Given the description of an element on the screen output the (x, y) to click on. 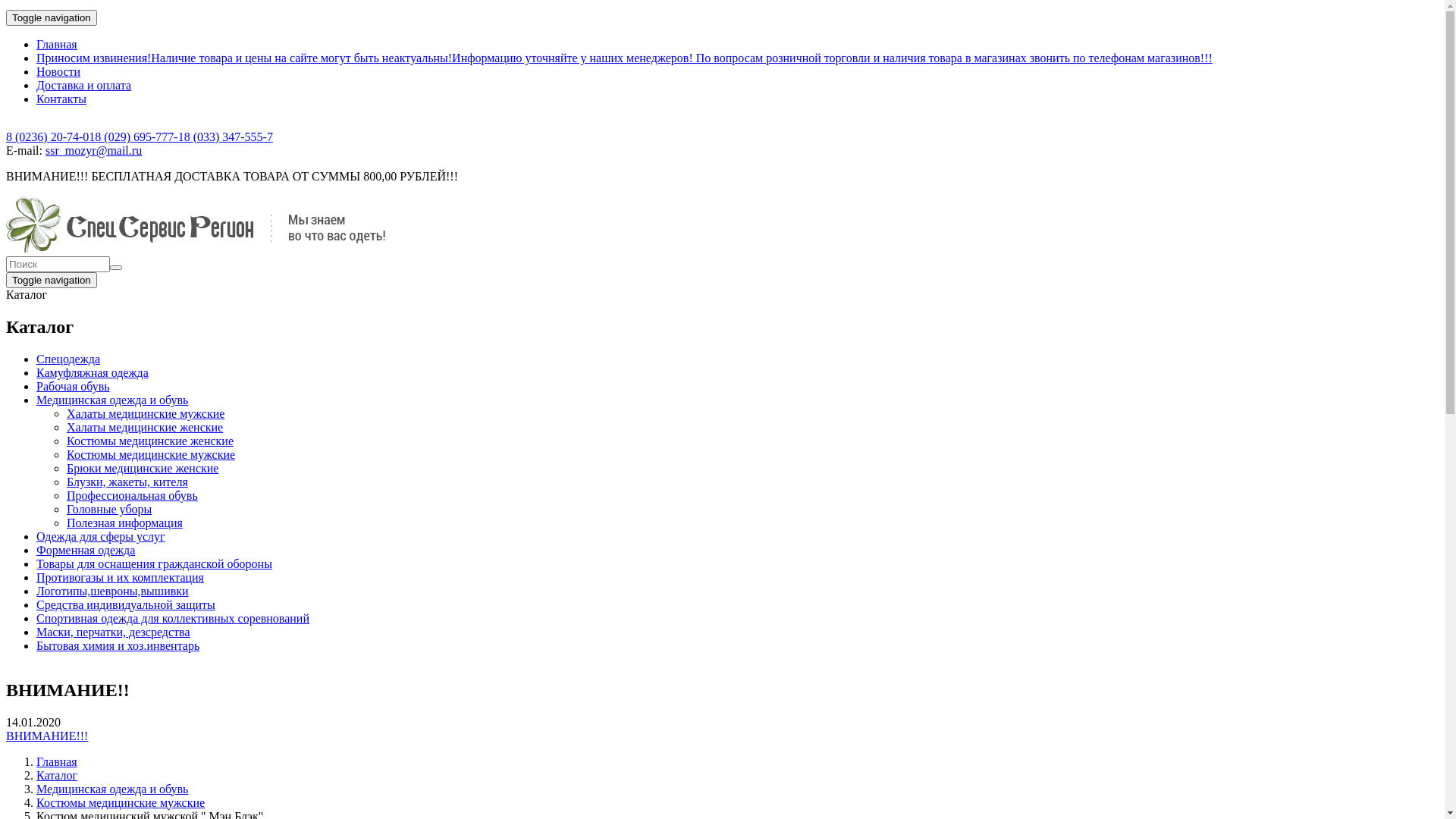
8 (029) 695-777-1 Element type: text (138, 136)
Toggle navigation Element type: text (51, 17)
Toggle navigation Element type: text (51, 280)
ssr_mozyr@mail.ru Element type: text (93, 150)
8 (033) 347-555-7 Element type: text (228, 136)
8 (0236) 20-74-01 Element type: text (50, 136)
